Given the description of an element on the screen output the (x, y) to click on. 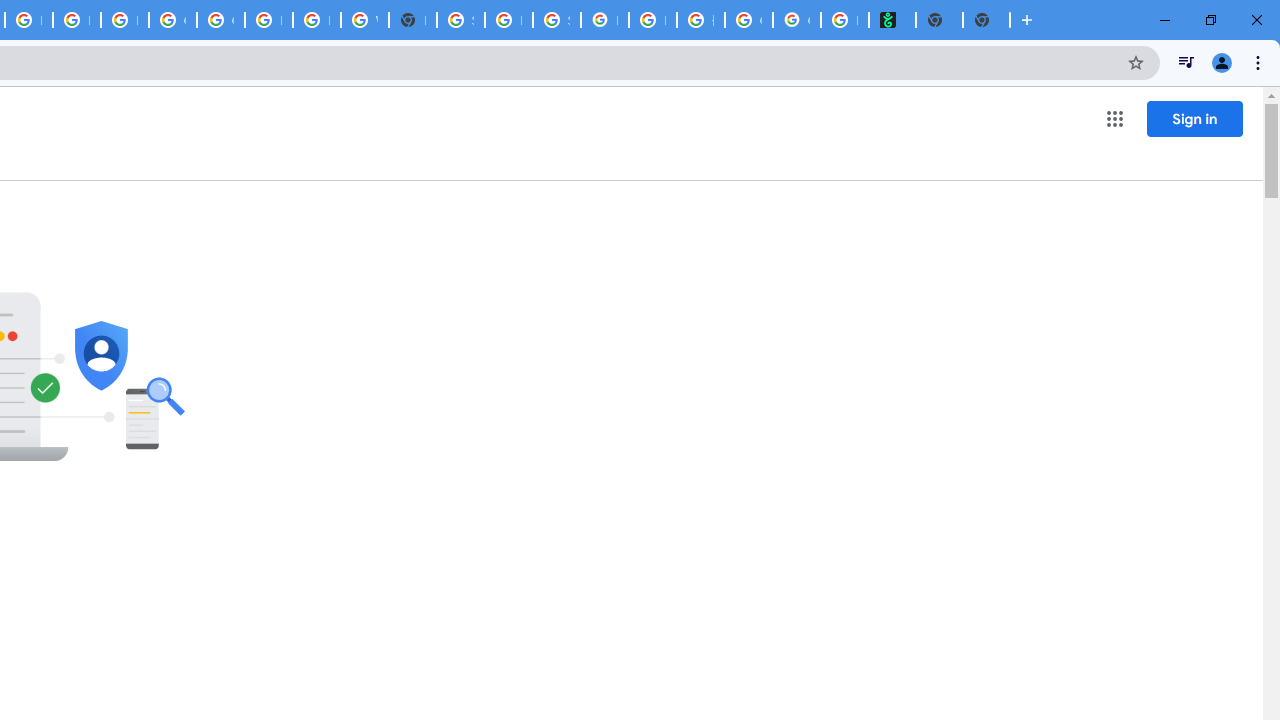
Sign in - Google Accounts (460, 20)
New Tab (985, 20)
Google Cloud Platform (172, 20)
